Given the description of an element on the screen output the (x, y) to click on. 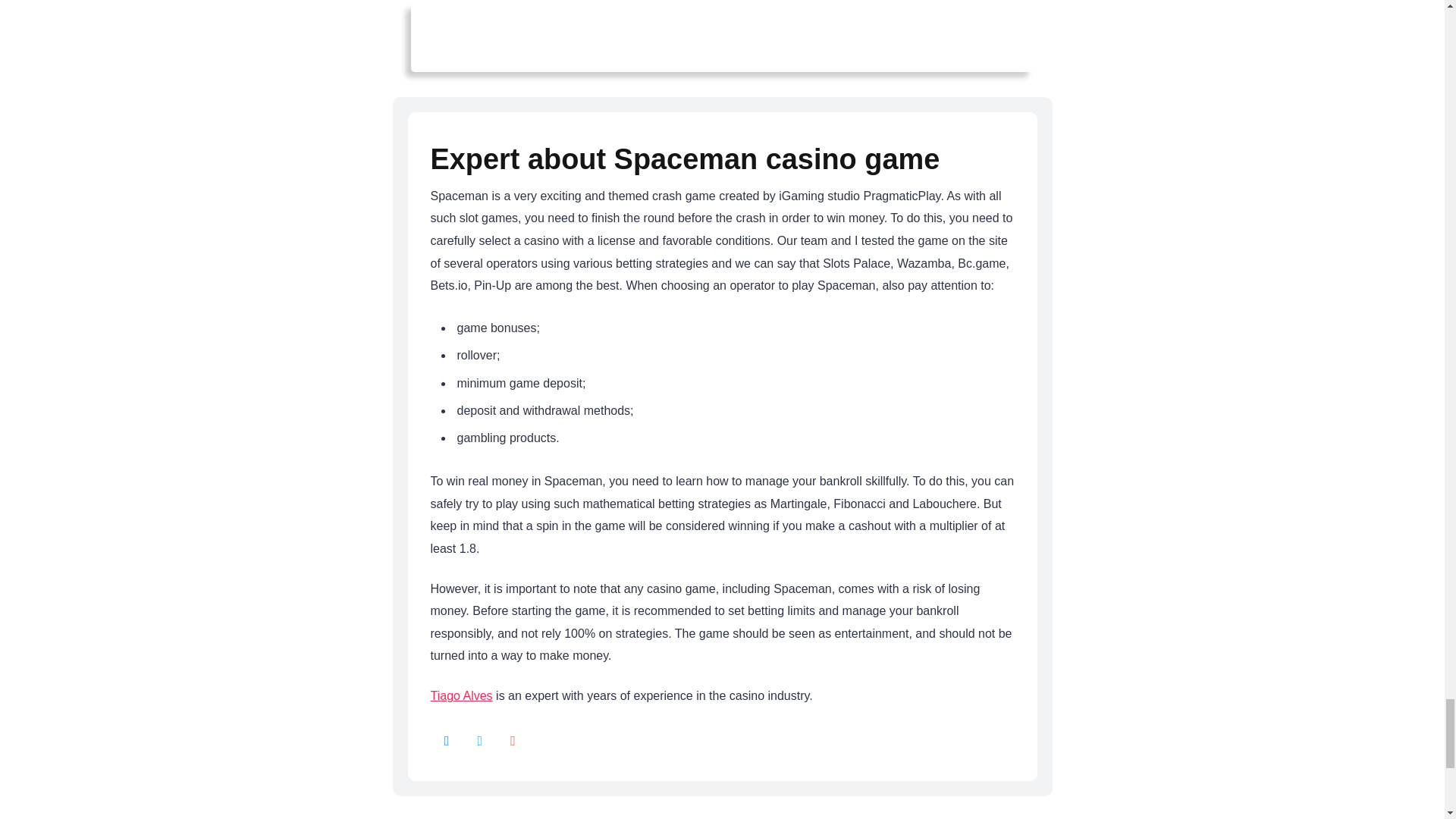
Twitter (479, 741)
Reddit (512, 741)
Facebook (447, 741)
